Given the description of an element on the screen output the (x, y) to click on. 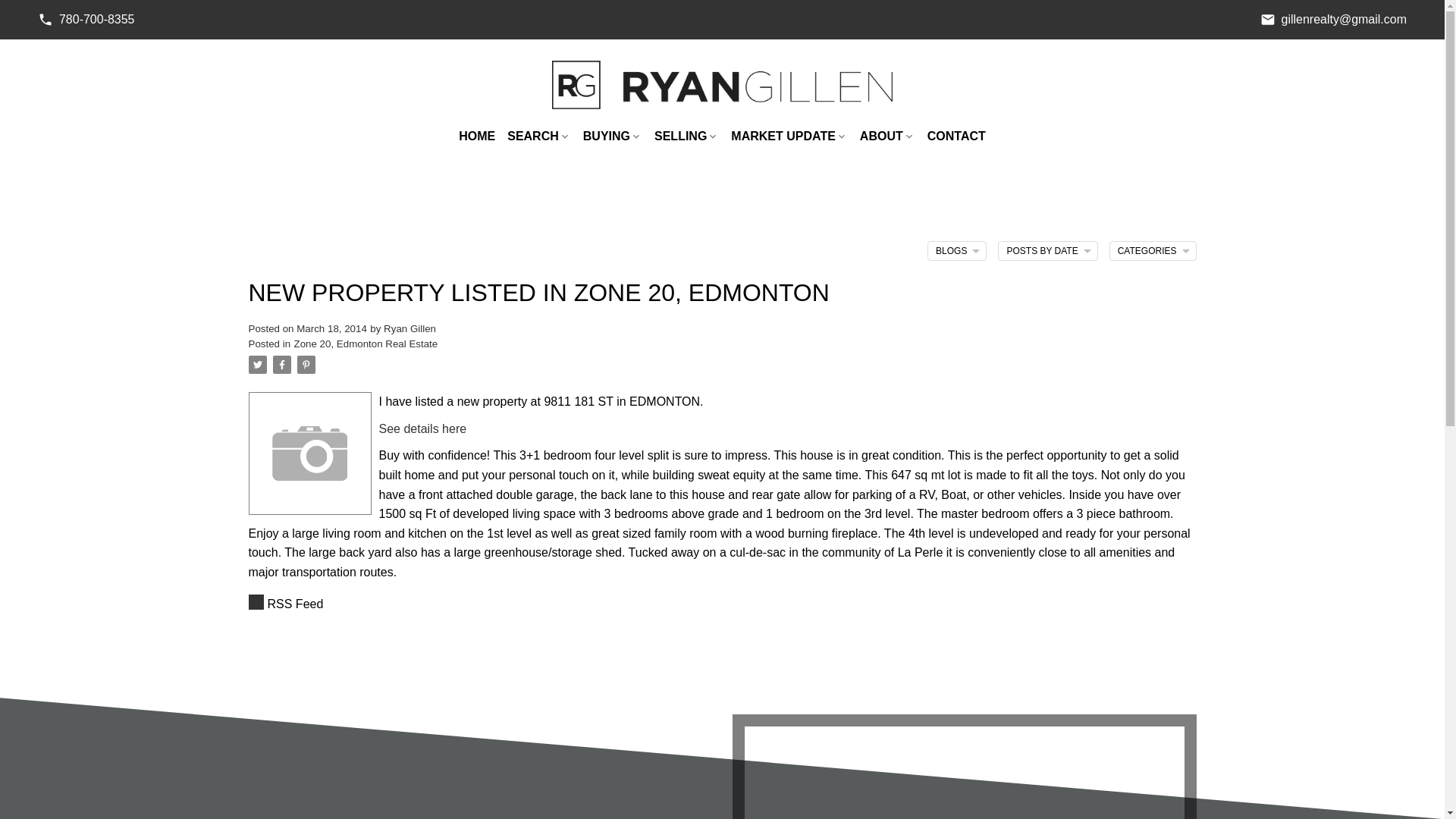
SELLING (686, 136)
HOME (476, 136)
780-700-8355 (86, 19)
Zone 20, Edmonton Real Estate (366, 343)
ABOUT (887, 136)
BUYING (612, 136)
SEARCH (538, 136)
CONTACT (956, 136)
RSS (722, 604)
See details here (422, 428)
MARKET UPDATE (788, 136)
